Given the description of an element on the screen output the (x, y) to click on. 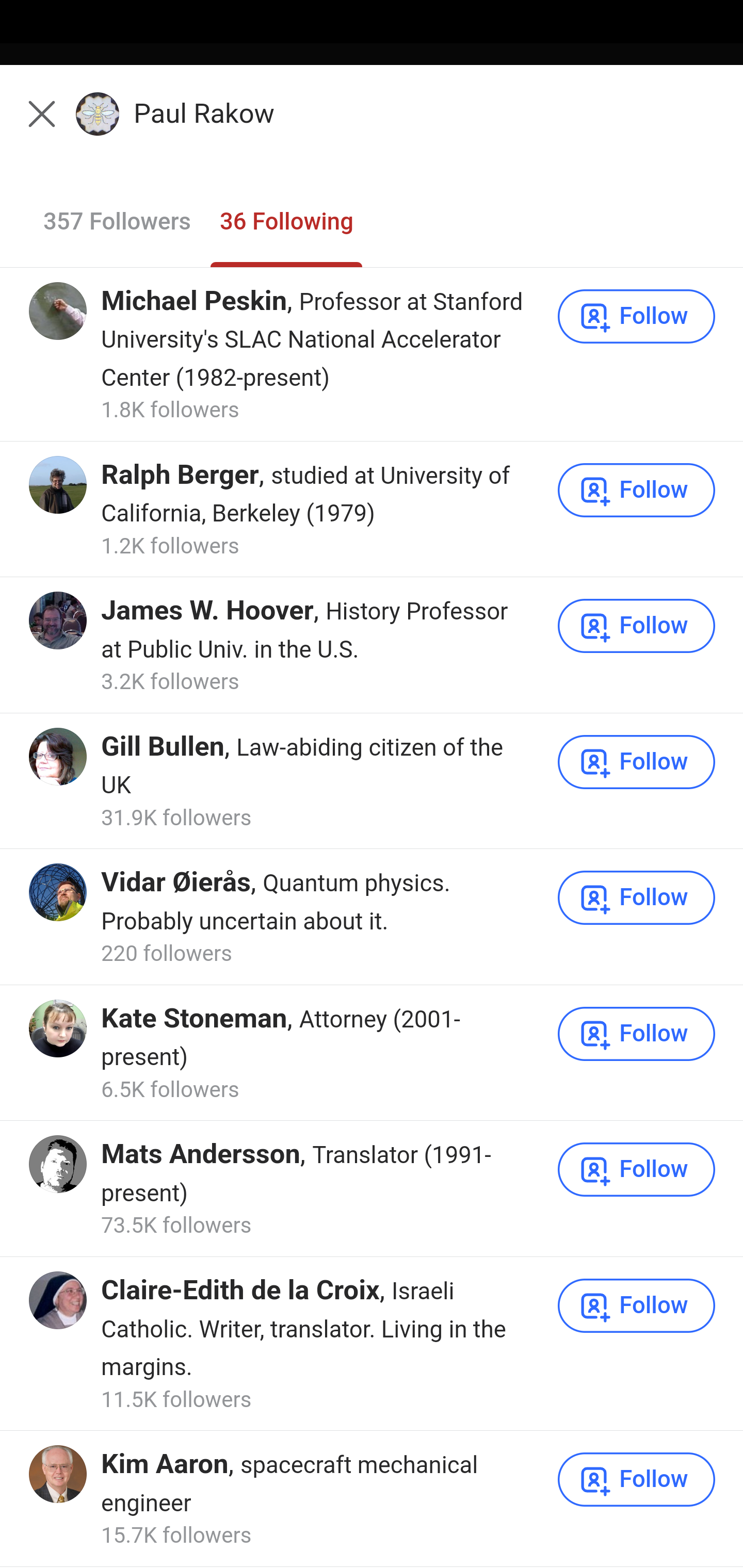
Back Test Appium (371, 125)
 (39, 112)
